Given the description of an element on the screen output the (x, y) to click on. 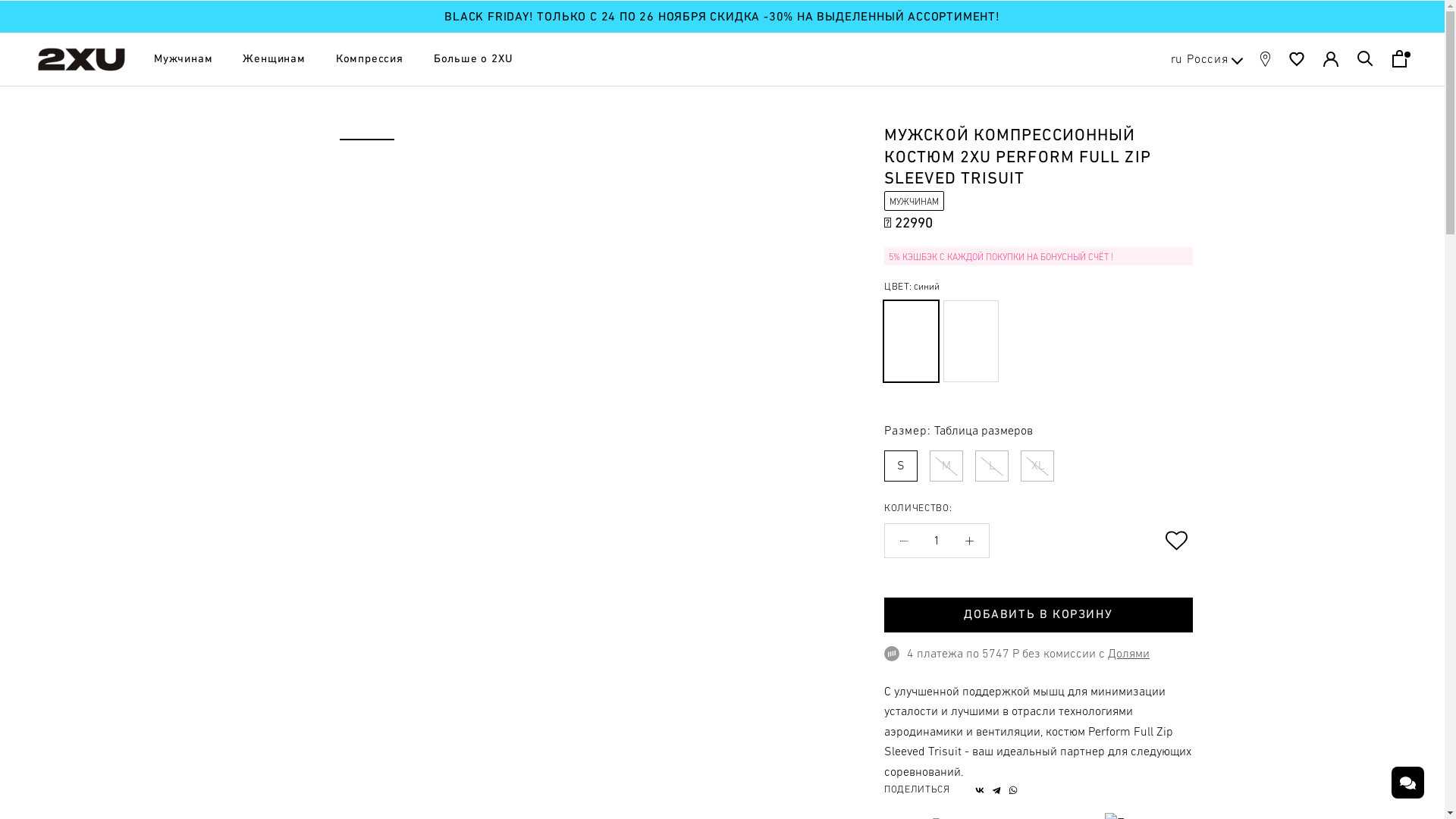
Telegram Element type: hover (996, 790)
WhatsApp Element type: hover (1012, 790)
